Given the description of an element on the screen output the (x, y) to click on. 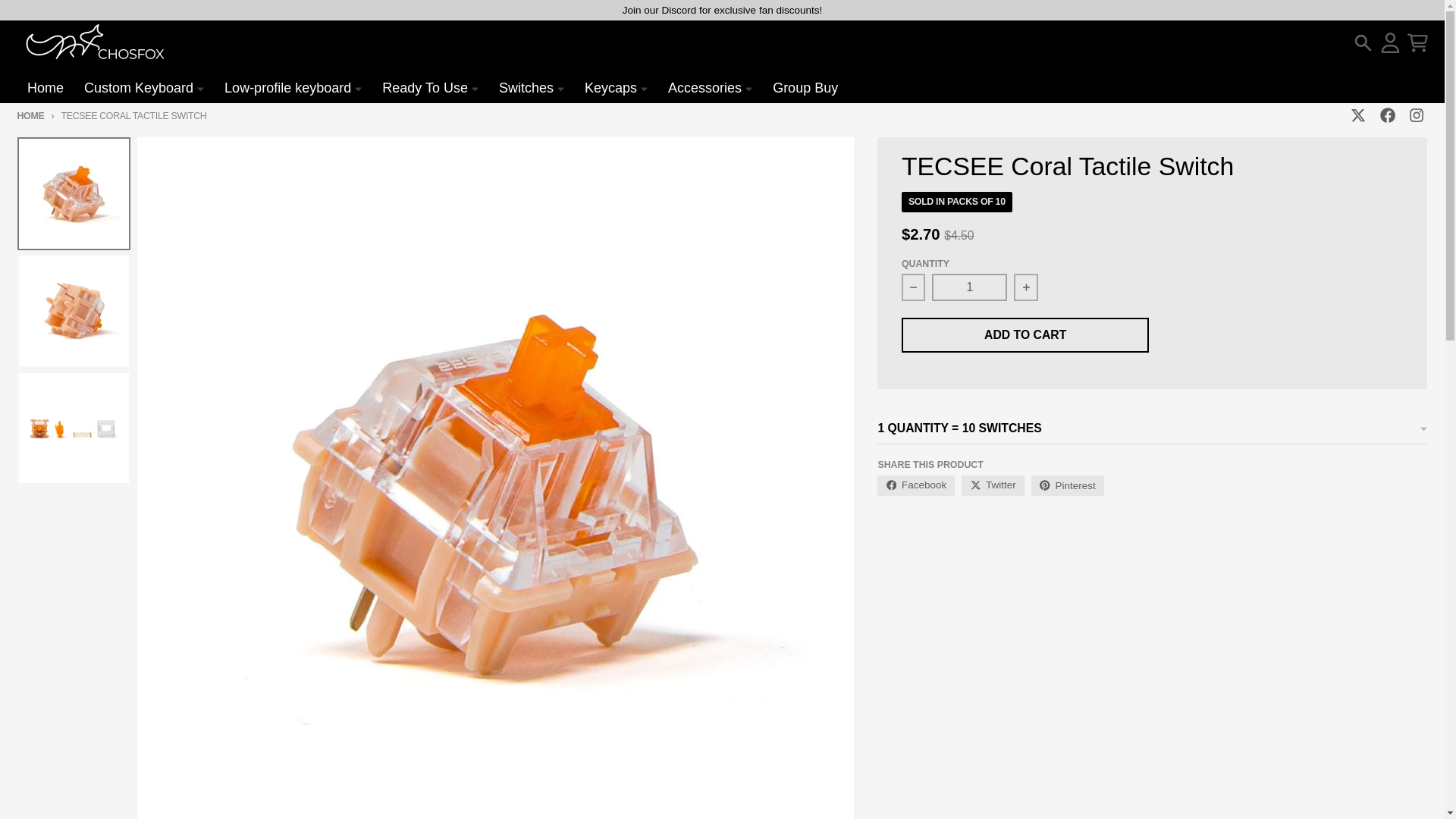
Home (45, 87)
Twitter - Chosfox (1359, 115)
Cart (1417, 42)
Group Buy (805, 87)
Back to the homepage (29, 115)
Facebook - Chosfox (1386, 115)
Instagram - Chosfox (1415, 115)
1 (969, 287)
Search (1362, 42)
Account (1390, 42)
